Given the description of an element on the screen output the (x, y) to click on. 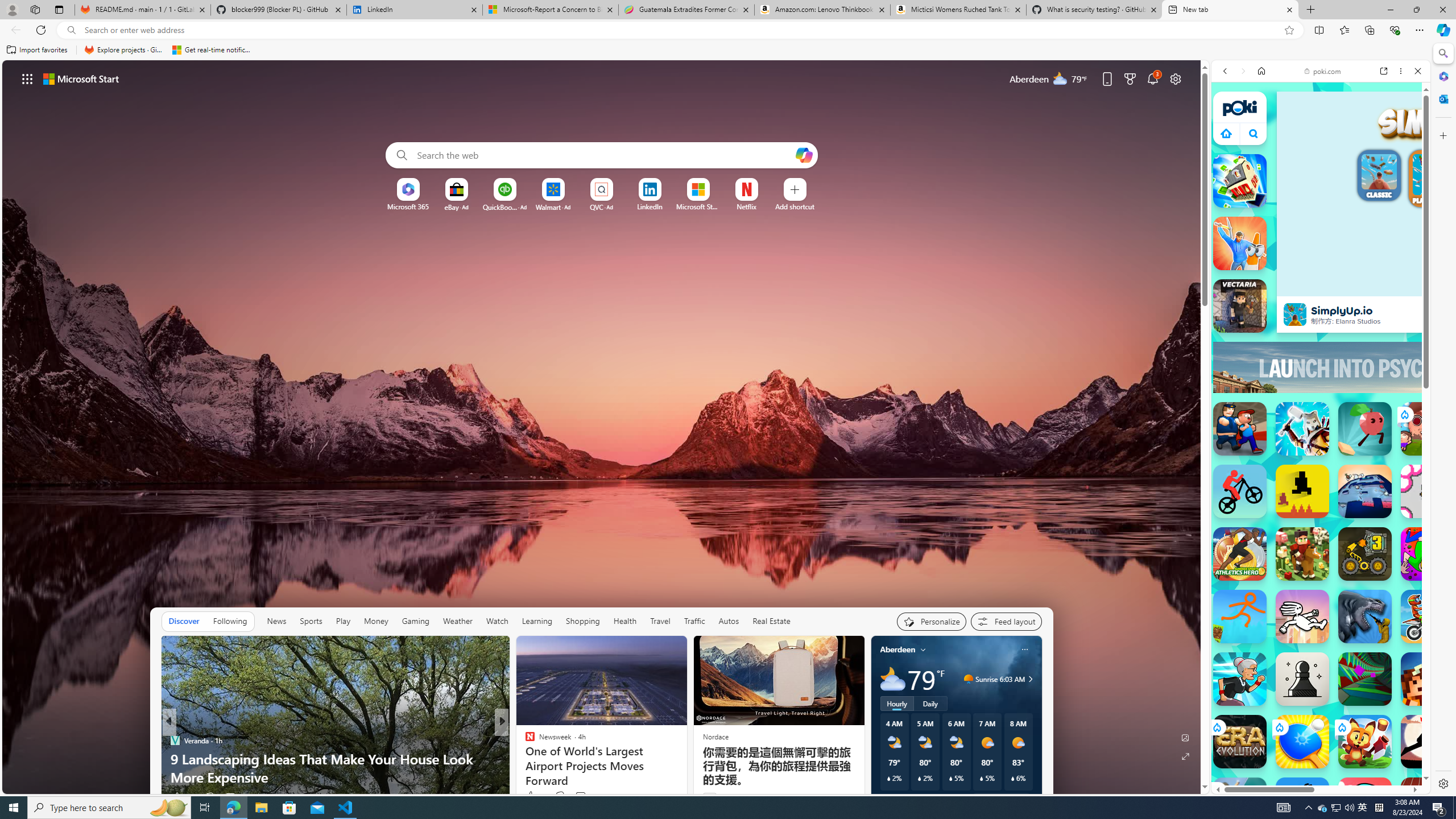
View comments 22 Comment (585, 796)
Two Player Games (1320, 342)
View comments 20 Comment (582, 796)
